Given the description of an element on the screen output the (x, y) to click on. 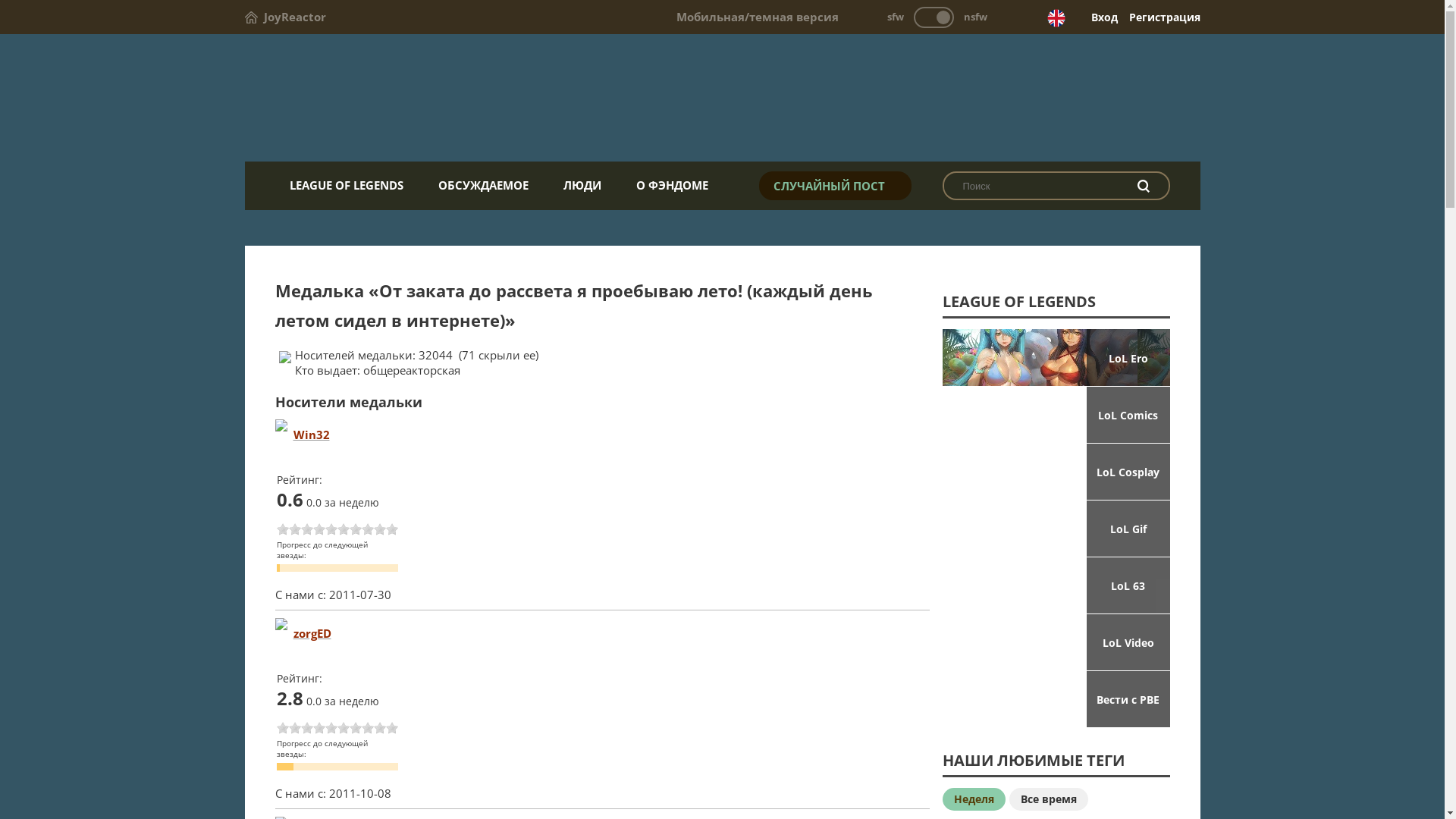
LoL Cosplay Element type: text (1055, 471)
Win32 Element type: text (310, 434)
LoL Ero Element type: text (1055, 357)
English version Element type: hover (1055, 18)
LoL Comics Element type: text (1055, 414)
LoL Video Element type: text (1055, 642)
JoyReactor Element type: text (284, 17)
LoL Gif Element type: text (1055, 528)
League of Legends Element type: text (721, 98)
LoL 63 Element type: text (1055, 585)
LEAGUE OF LEGENDS Element type: text (345, 184)
zorgED Element type: text (311, 632)
